Given the description of an element on the screen output the (x, y) to click on. 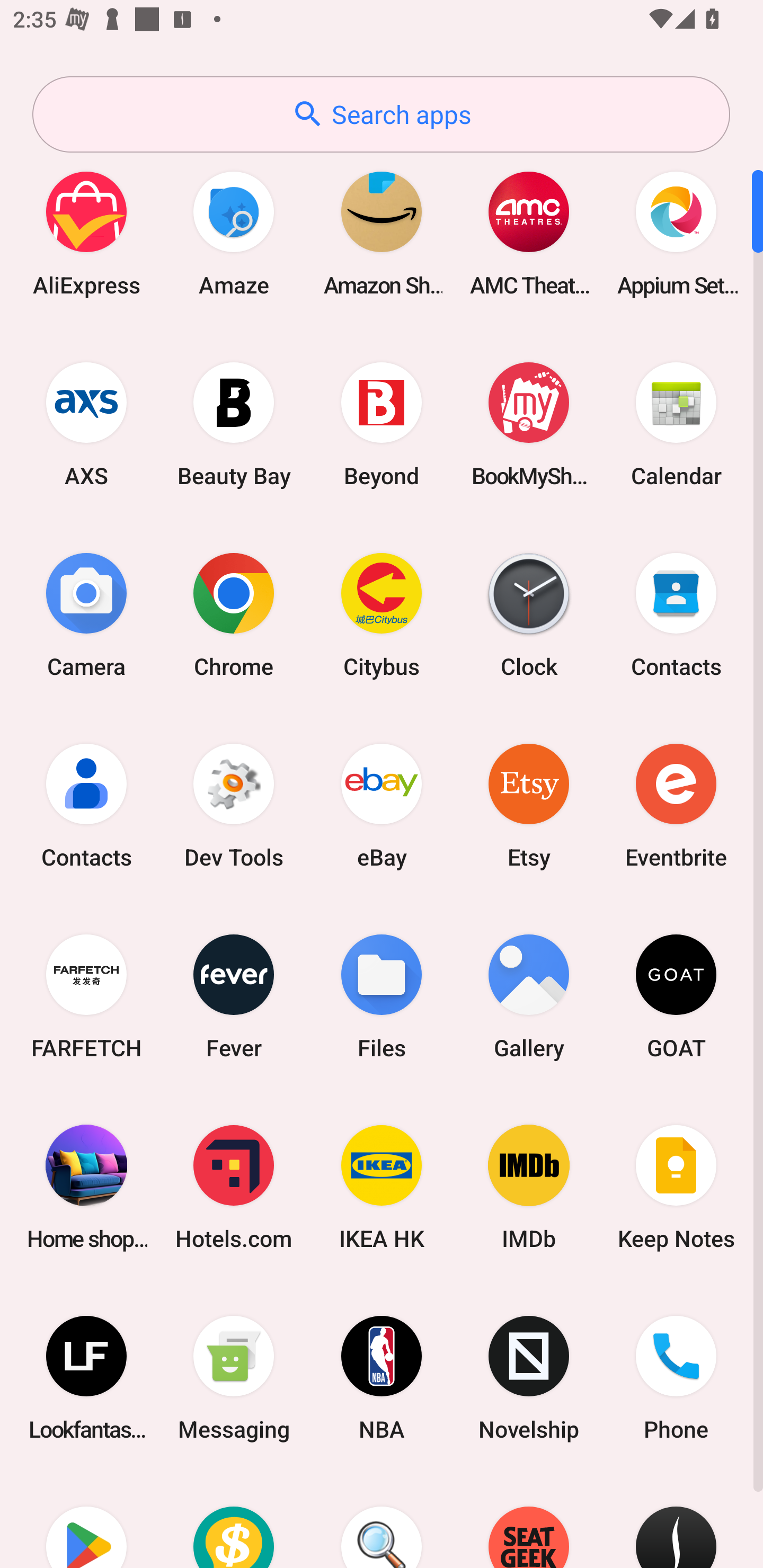
  Search apps (381, 114)
AliExpress (86, 233)
Amaze (233, 233)
Amazon Shopping (381, 233)
AMC Theatres (528, 233)
Appium Settings (676, 233)
AXS (86, 424)
Beauty Bay (233, 424)
Beyond (381, 424)
BookMyShow (528, 424)
Calendar (676, 424)
Camera (86, 614)
Chrome (233, 614)
Citybus (381, 614)
Clock (528, 614)
Contacts (676, 614)
Contacts (86, 805)
Dev Tools (233, 805)
eBay (381, 805)
Etsy (528, 805)
Eventbrite (676, 805)
FARFETCH (86, 996)
Fever (233, 996)
Files (381, 996)
Gallery (528, 996)
GOAT (676, 996)
Home shopping (86, 1186)
Hotels.com (233, 1186)
IKEA HK (381, 1186)
IMDb (528, 1186)
Keep Notes (676, 1186)
Lookfantastic (86, 1377)
Messaging (233, 1377)
NBA (381, 1377)
Novelship (528, 1377)
Phone (676, 1377)
Play Store (86, 1520)
Price (233, 1520)
Search (381, 1520)
SeatGeek (528, 1520)
Sephora (676, 1520)
